Given the description of an element on the screen output the (x, y) to click on. 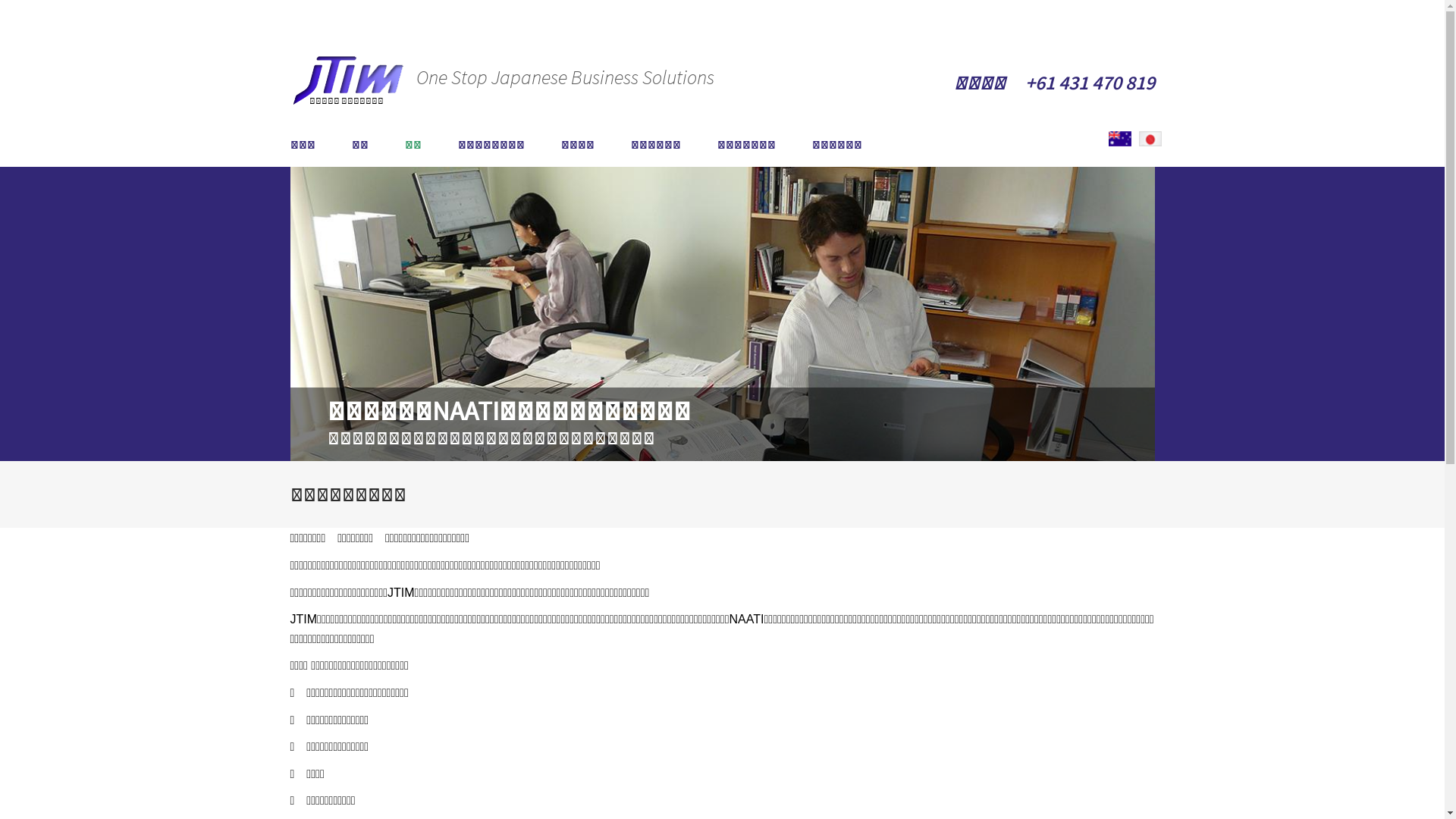
Translator Element type: hover (1119, 137)
English Element type: hover (1119, 138)
